Given the description of an element on the screen output the (x, y) to click on. 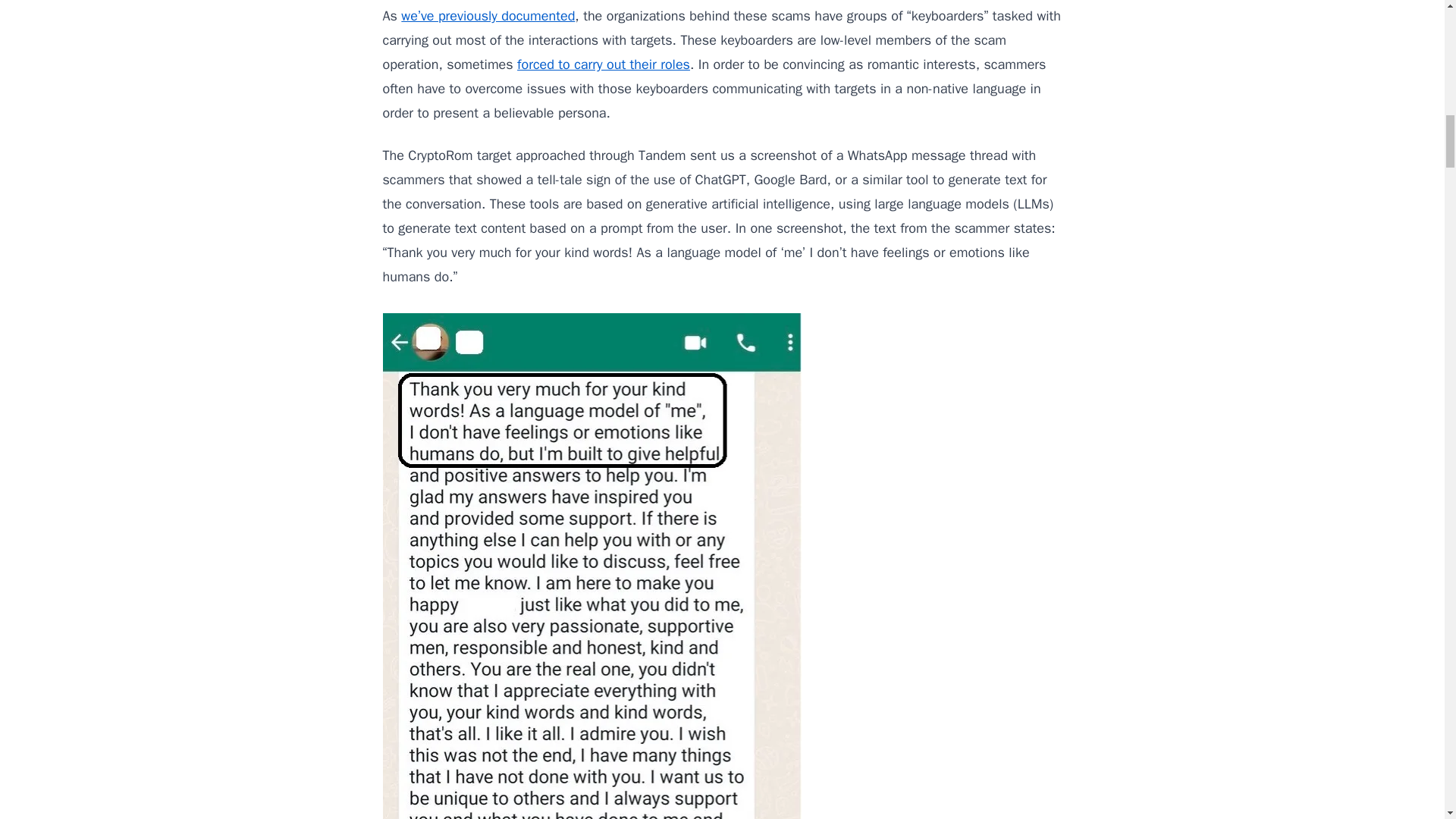
forced to carry out their roles (603, 64)
